Given the description of an element on the screen output the (x, y) to click on. 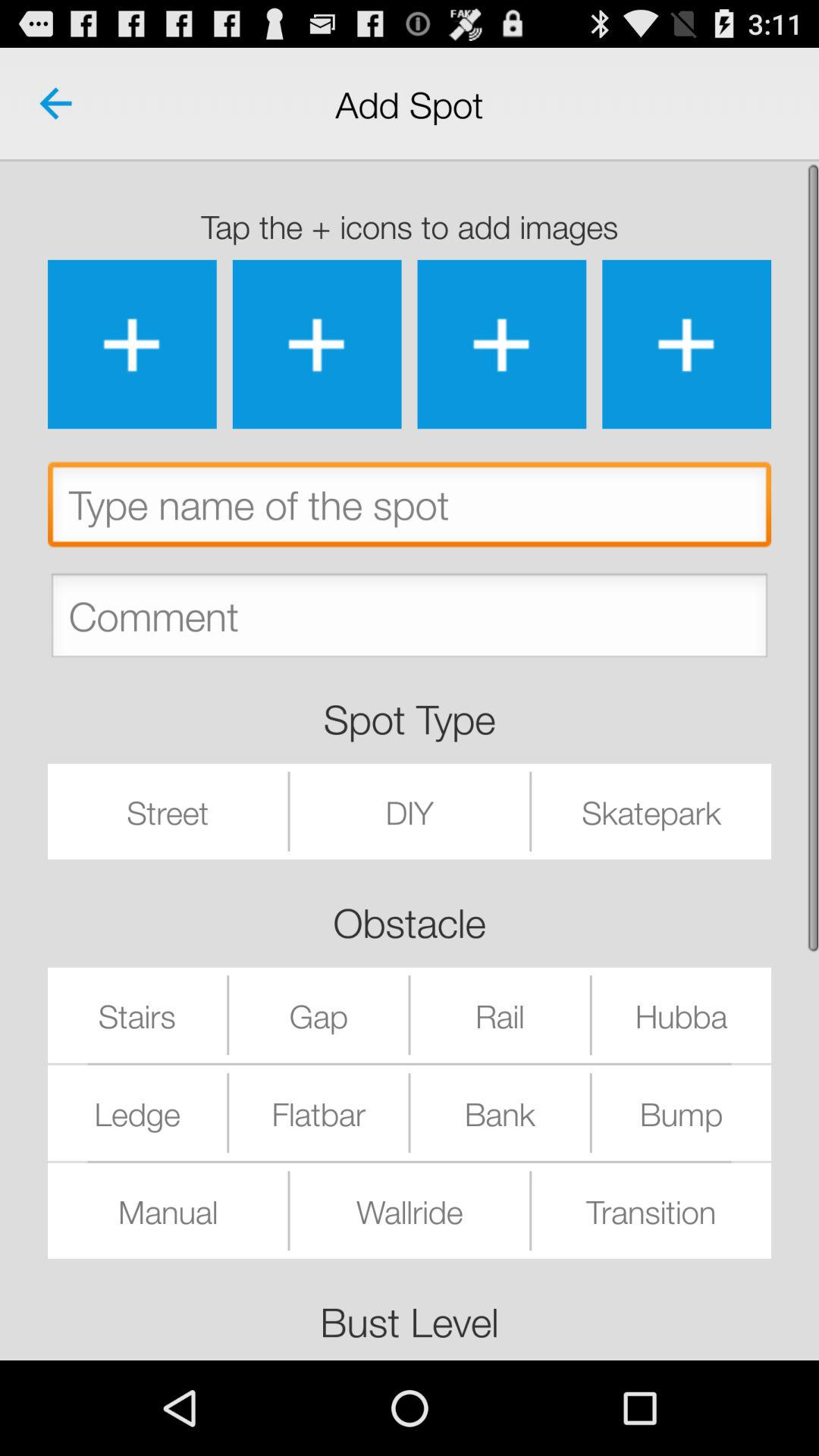
scroll to the stairs item (136, 1014)
